Given the description of an element on the screen output the (x, y) to click on. 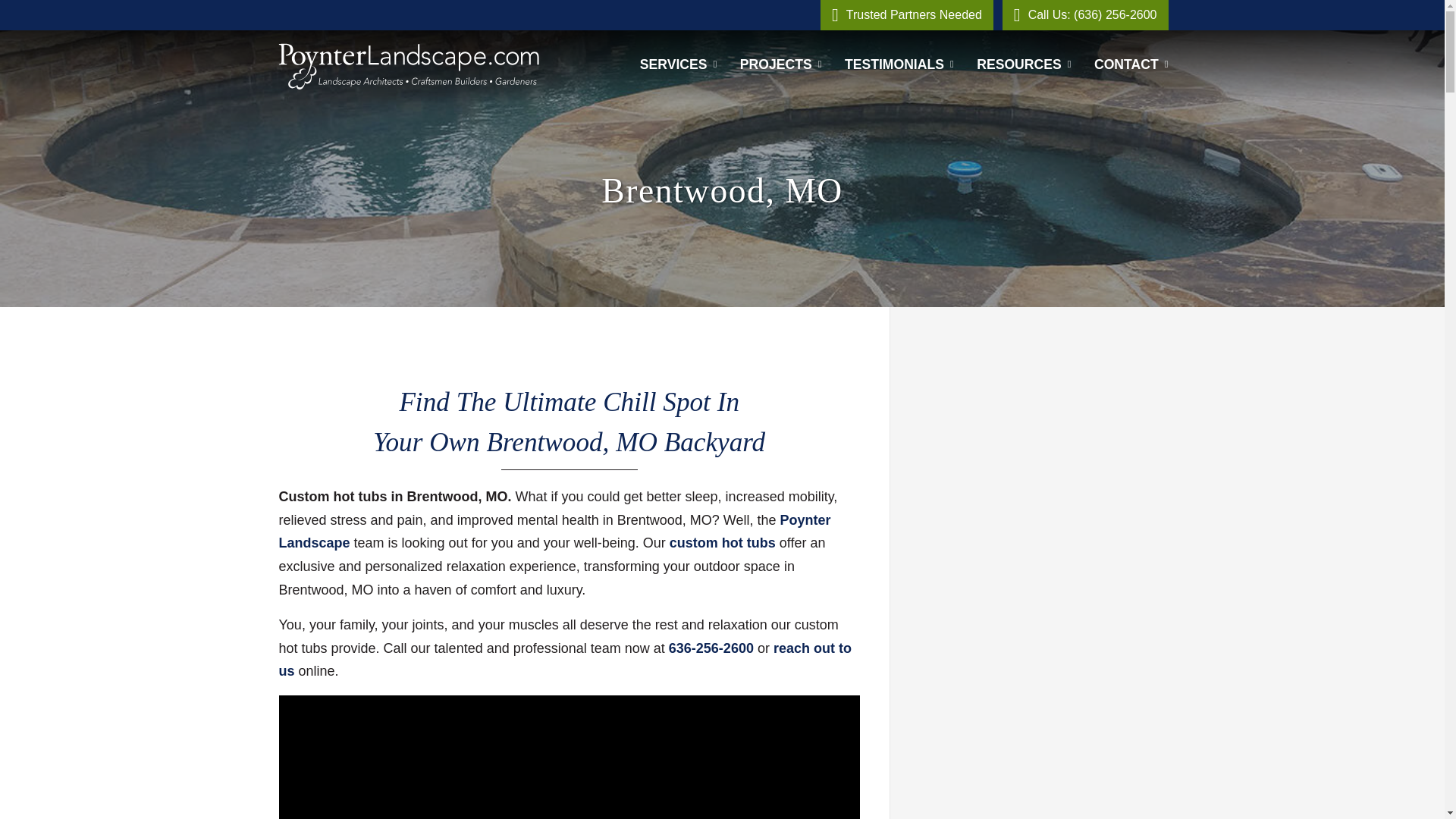
PROJECTS (780, 64)
Trusted Partners Needed (906, 15)
SERVICES (678, 64)
